Given the description of an element on the screen output the (x, y) to click on. 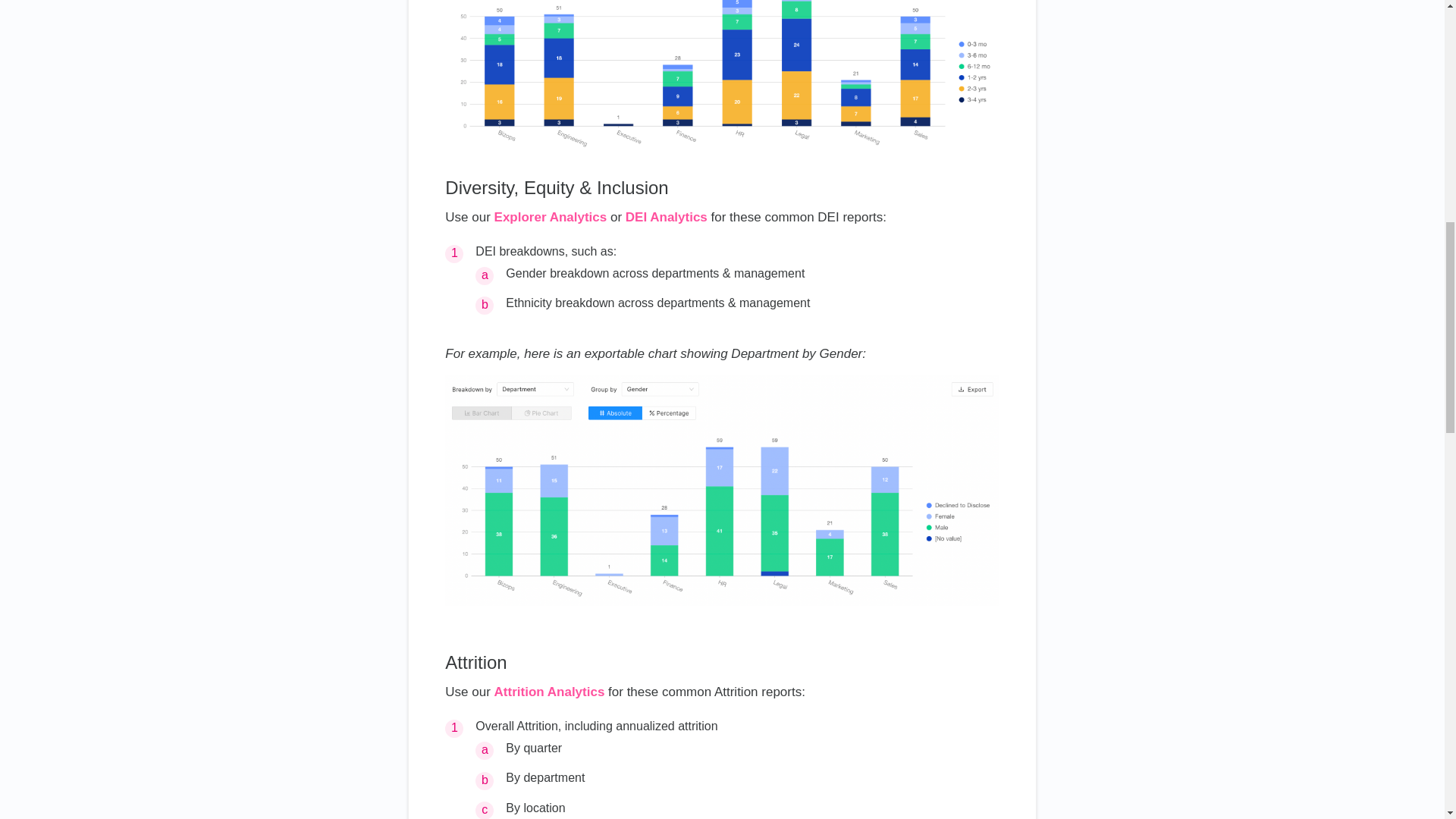
DEI Analytics (666, 216)
Attrition Analytics (550, 691)
Explorer Analytics (551, 216)
